Given the description of an element on the screen output the (x, y) to click on. 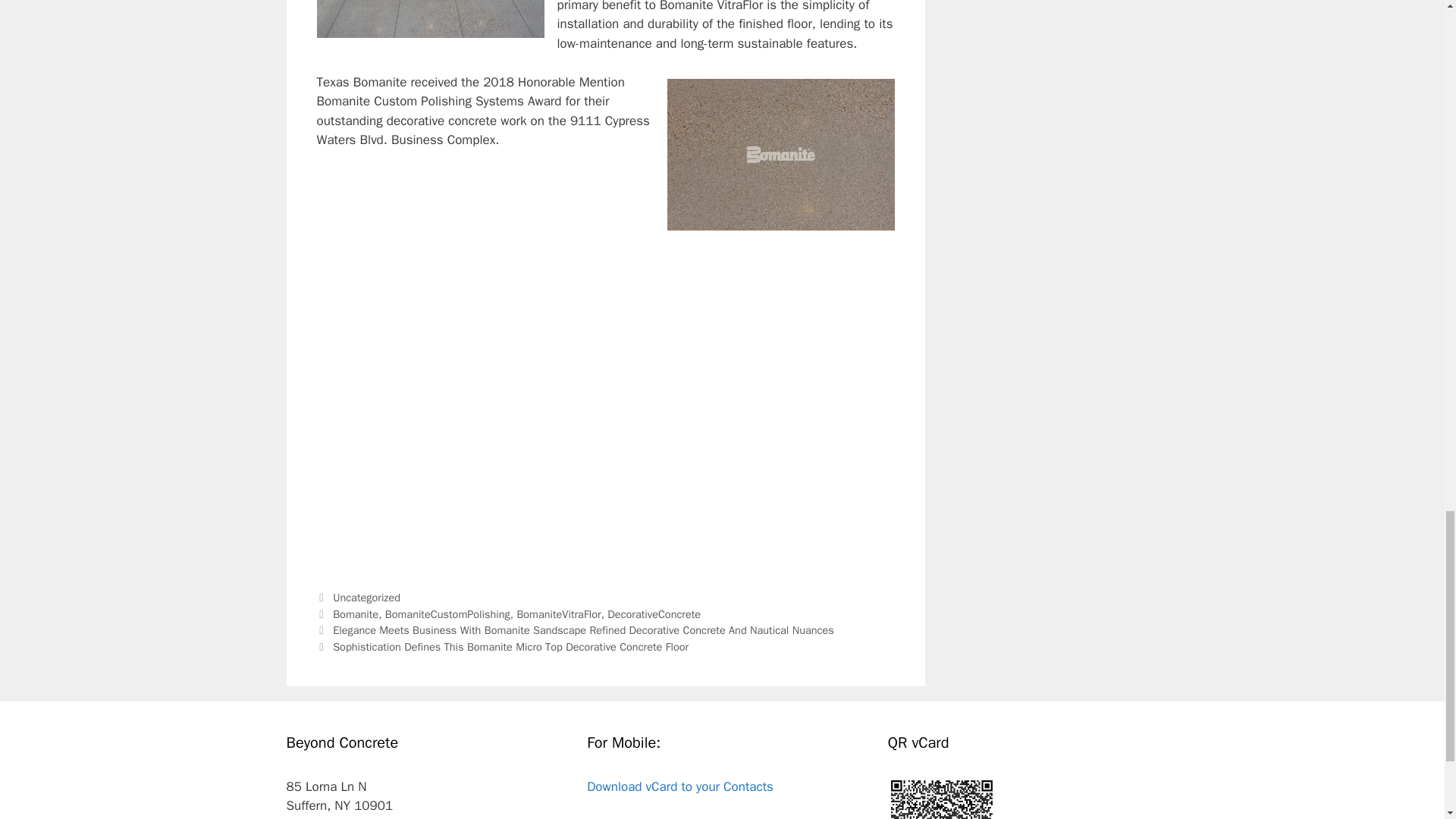
Uncategorized (366, 597)
BomaniteVitraFlor (557, 613)
Bomanite (355, 613)
DecorativeConcrete (653, 613)
BomaniteCustomPolishing (448, 613)
